Given the description of an element on the screen output the (x, y) to click on. 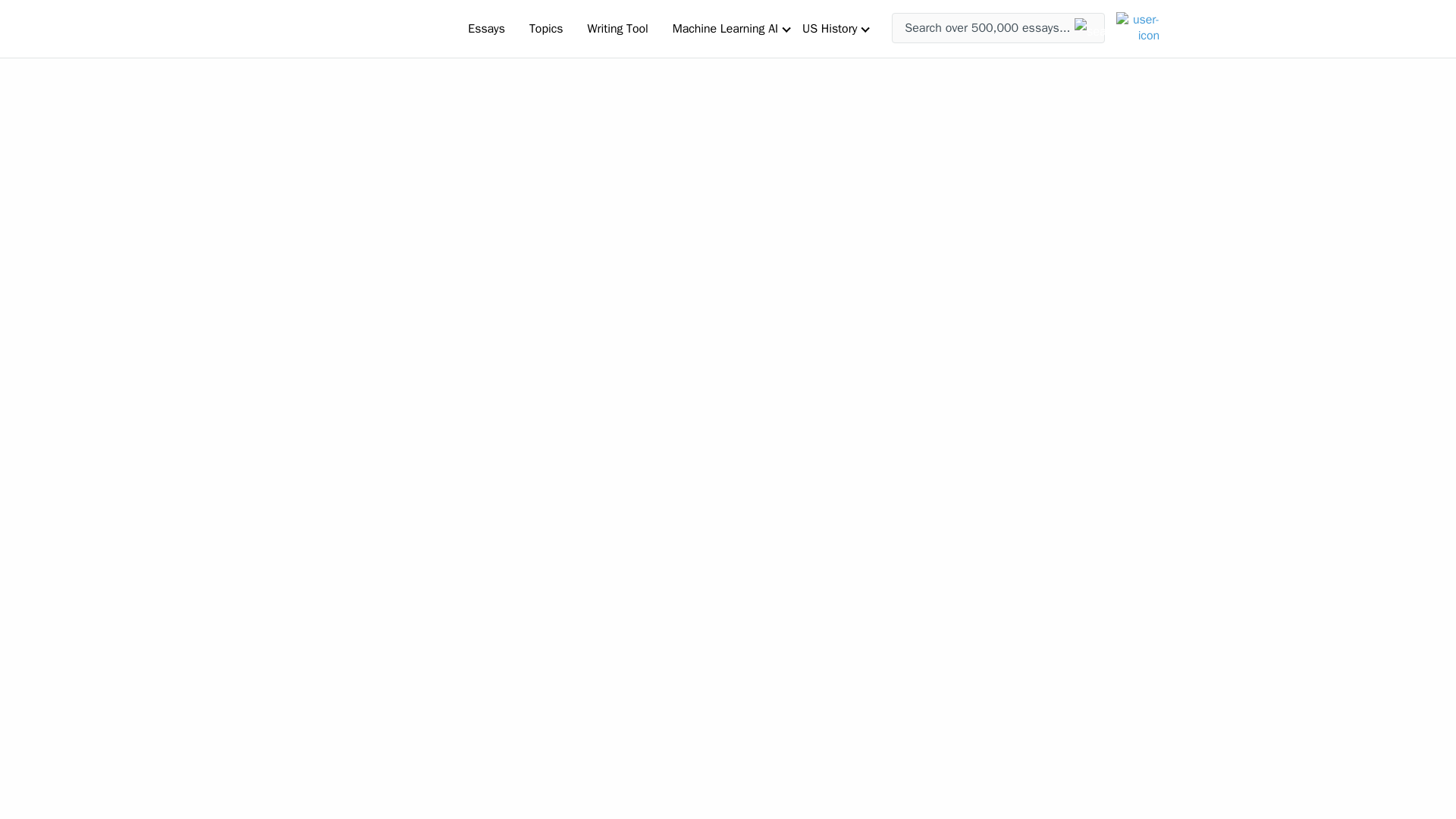
Essays (485, 28)
Topics (545, 28)
Machine Learning AI (725, 28)
US History (829, 28)
Writing Tool (617, 28)
